Given the description of an element on the screen output the (x, y) to click on. 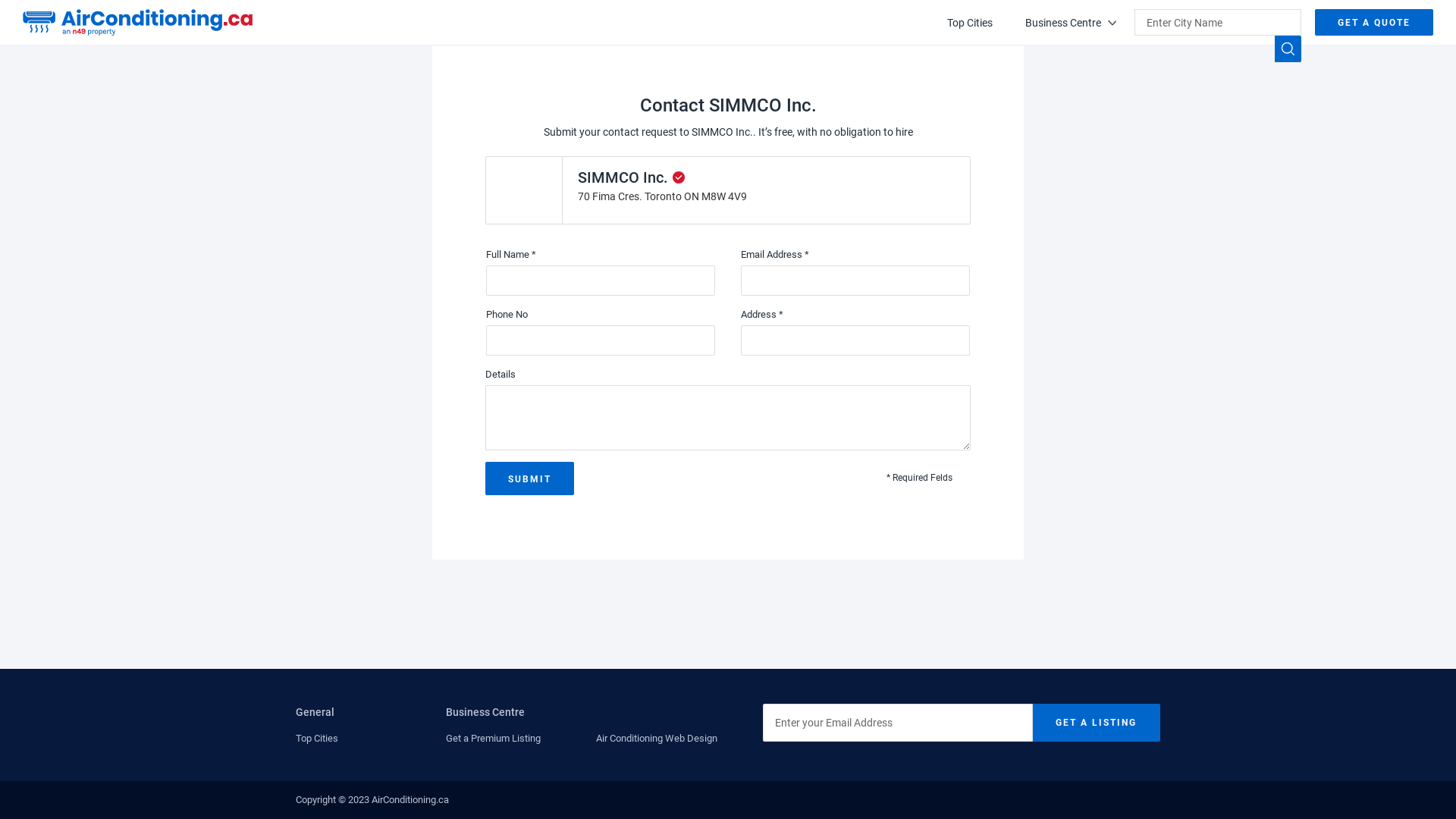
Air Conditioning Web Design Element type: text (656, 737)
GET A QUOTE Element type: text (1373, 22)
Get a Premium Listing Element type: text (492, 737)
Top Cities Element type: text (969, 22)
GET A LISTING Element type: text (1095, 722)
Business Centre Element type: text (1071, 22)
Top Cities Element type: text (316, 737)
Submit Element type: text (529, 478)
